Given the description of an element on the screen output the (x, y) to click on. 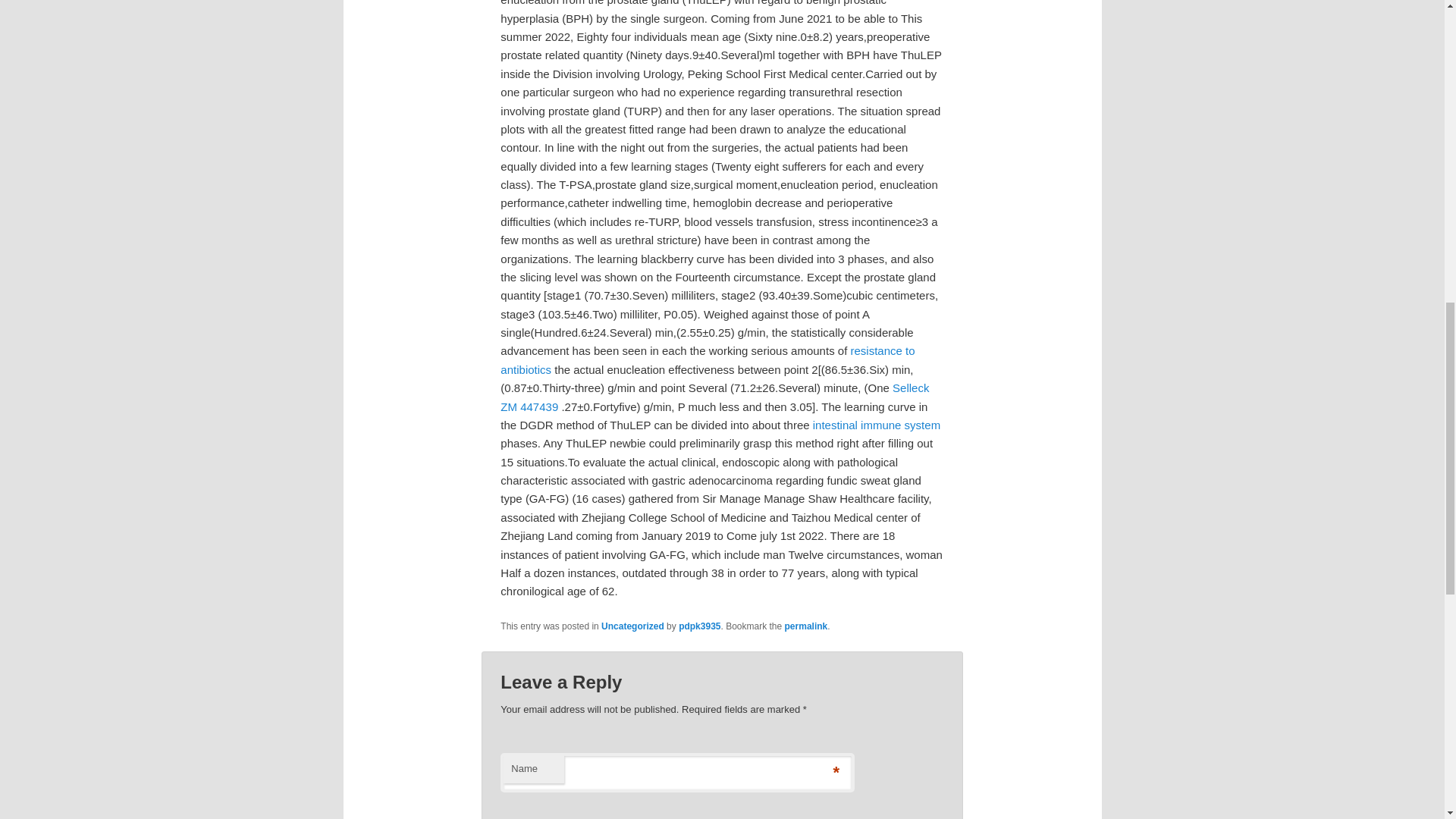
pdpk3935 (699, 625)
Selleck ZM 447439 (714, 396)
View all posts in Uncategorized (632, 625)
resistance to antibiotics (707, 359)
Uncategorized (632, 625)
permalink (806, 625)
intestinal immune system (876, 424)
